Given the description of an element on the screen output the (x, y) to click on. 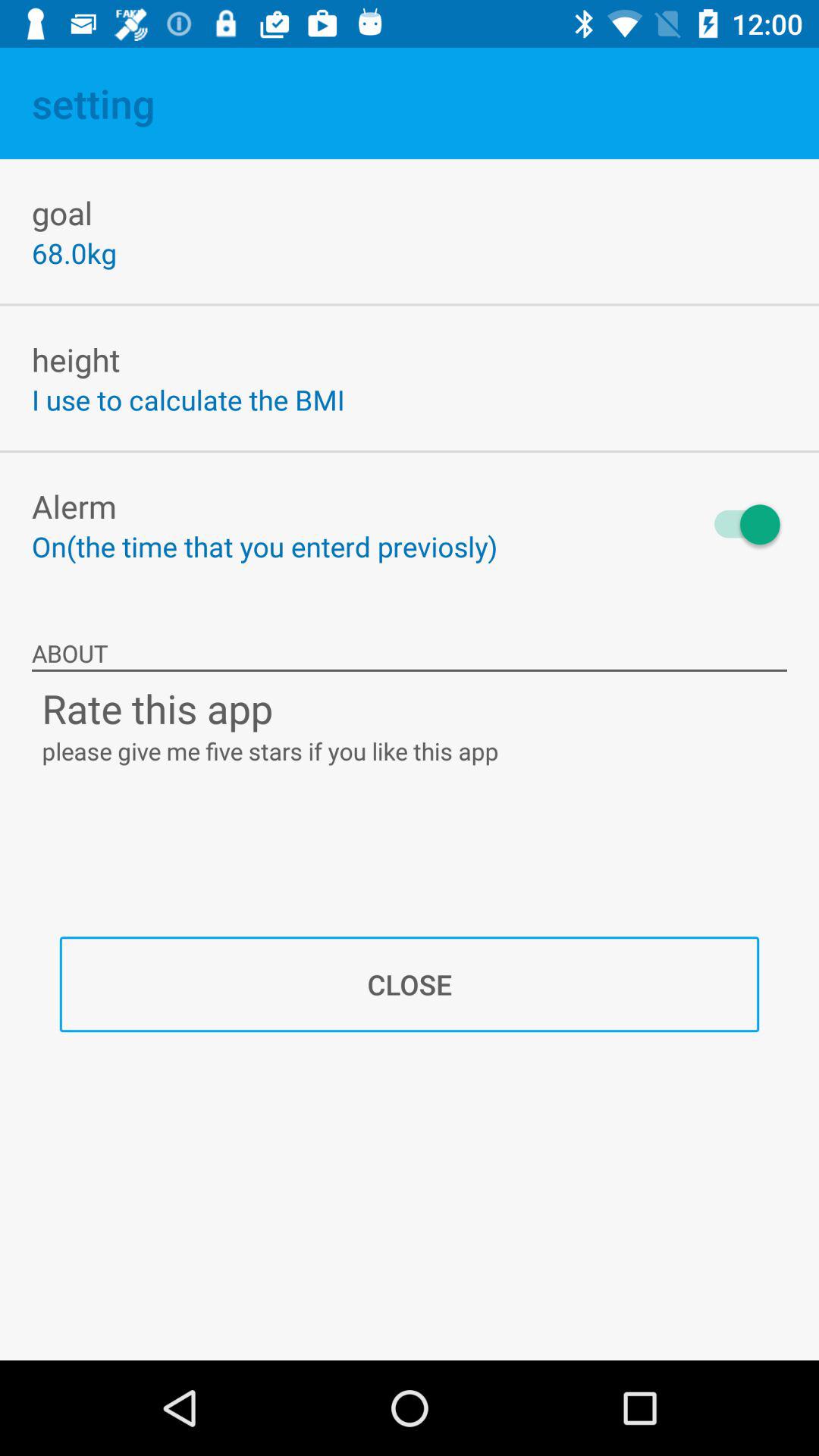
turn on icon below the goal item (73, 252)
